Given the description of an element on the screen output the (x, y) to click on. 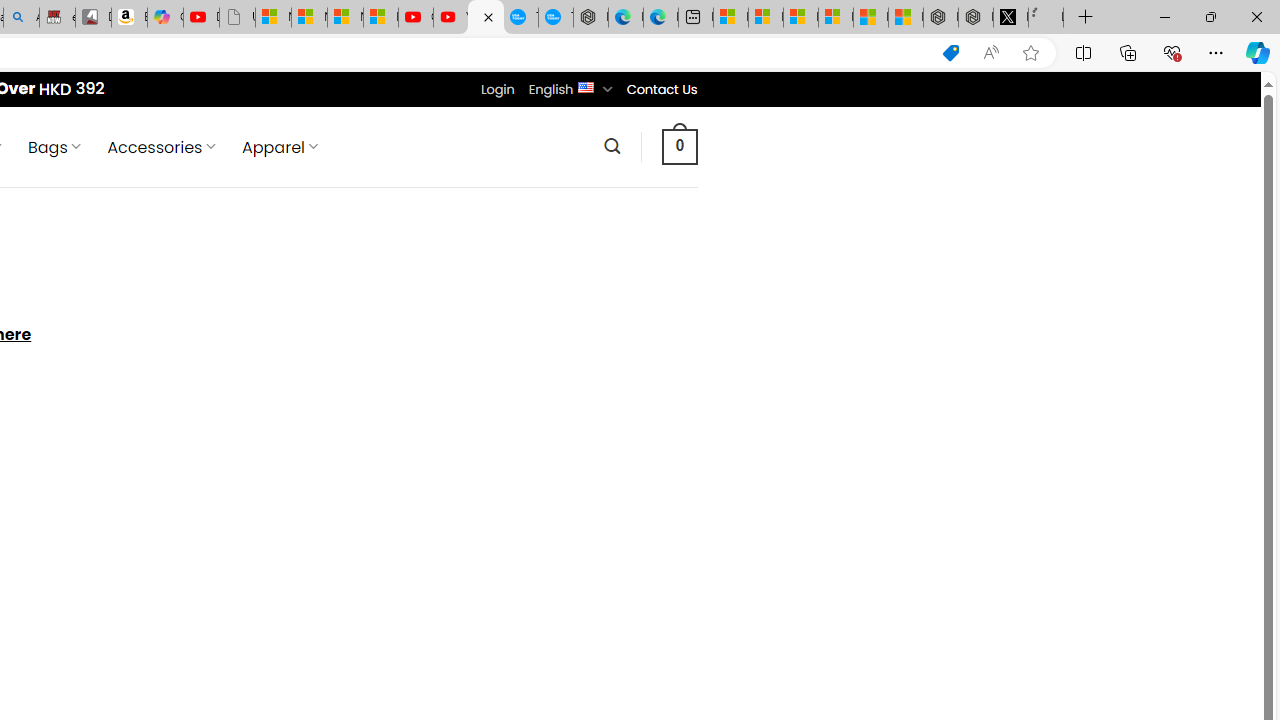
Copilot (165, 17)
Nordace (@NordaceOfficial) / X (1010, 17)
